Given the description of an element on the screen output the (x, y) to click on. 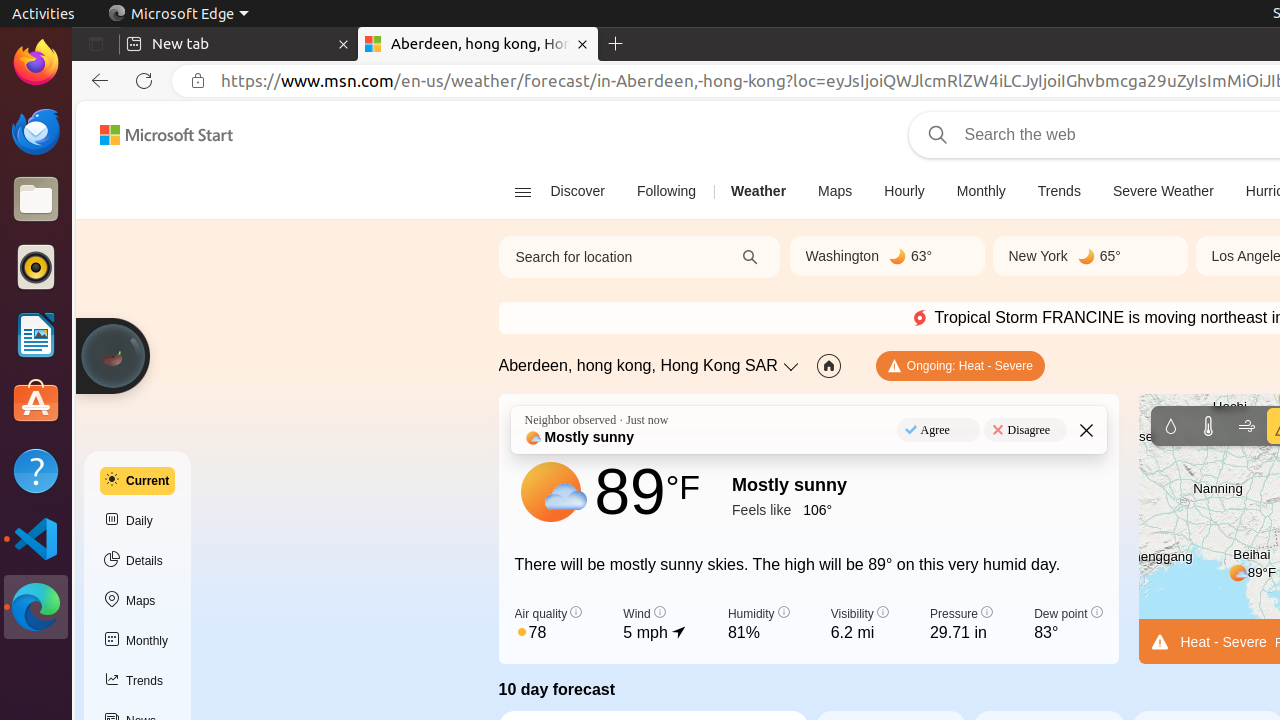
Daily Element type: push-button (138, 521)
Weather Element type: link (759, 192)
Visual Studio Code Element type: push-button (36, 538)
Change location Element type: push-button (793, 365)
Microsoft Edge Element type: push-button (36, 607)
